Given the description of an element on the screen output the (x, y) to click on. 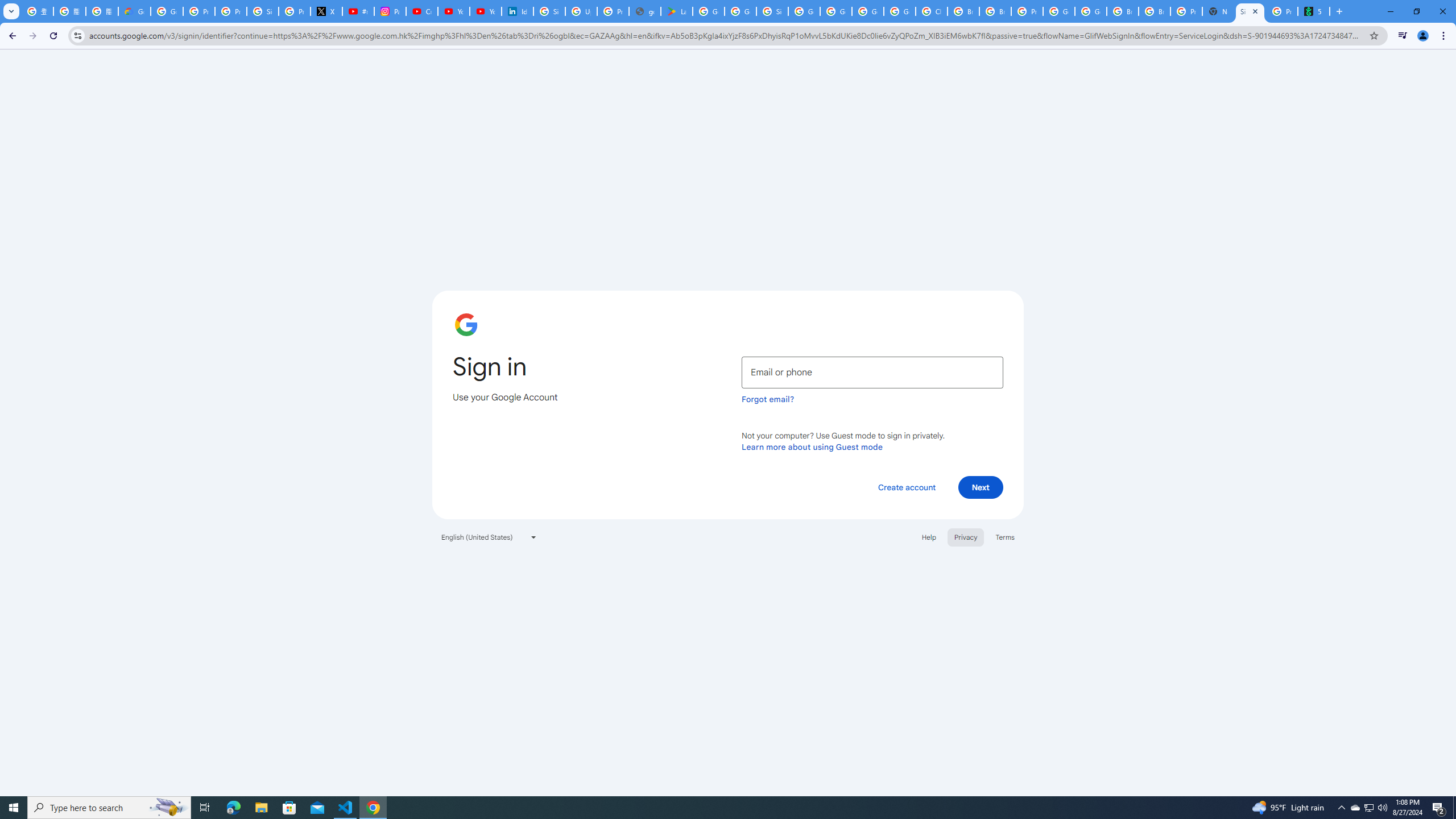
Google Cloud Platform (1059, 11)
Sign in - Google Accounts (262, 11)
Browse Chrome as a guest - Computer - Google Chrome Help (963, 11)
Create account (905, 486)
